Given the description of an element on the screen output the (x, y) to click on. 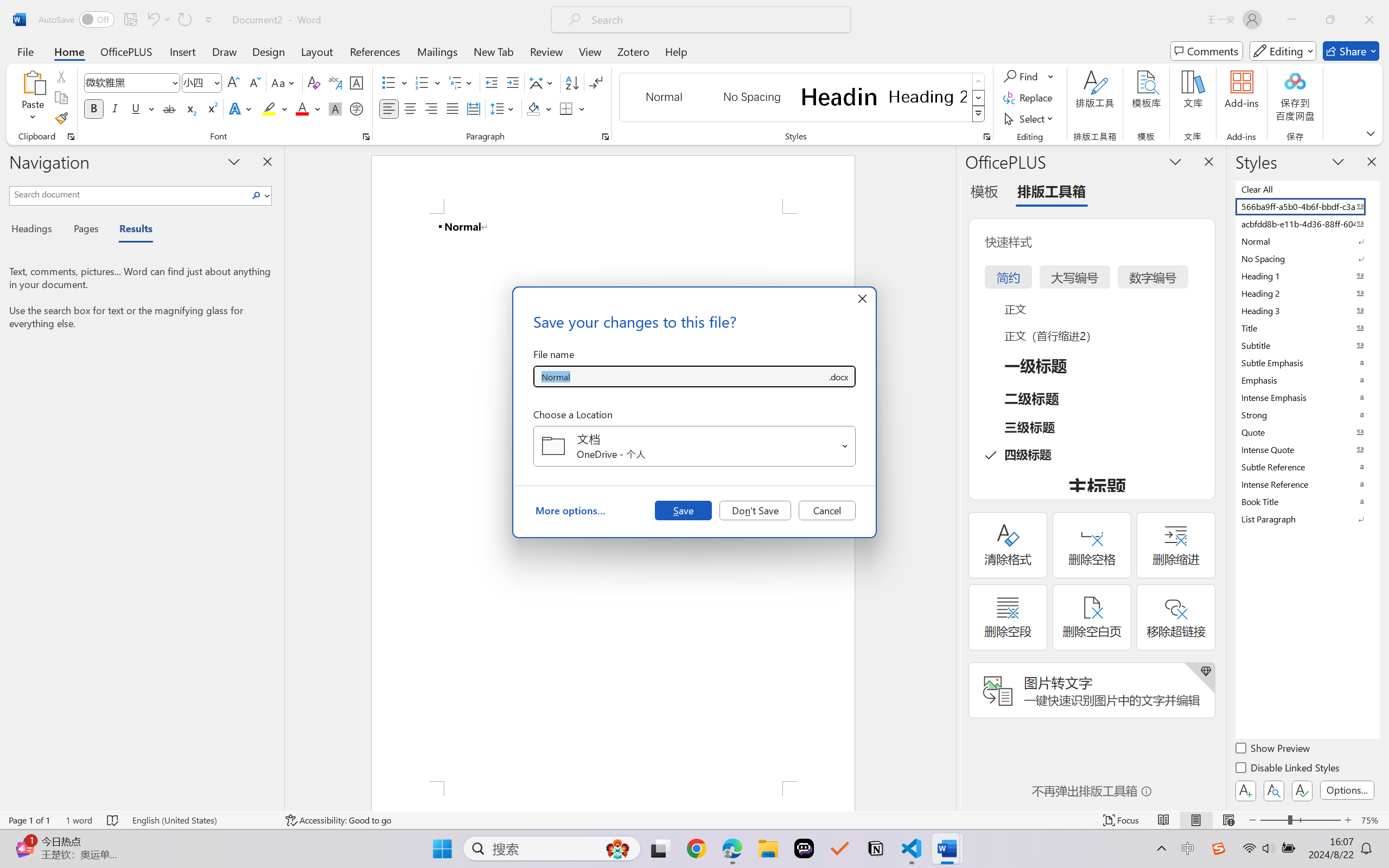
Bullets (395, 82)
Multilevel List (461, 82)
Styles (978, 113)
Share (1350, 51)
Language English (United States) (201, 819)
Help (675, 51)
Options... (1346, 789)
Quote (1306, 431)
